Given the description of an element on the screen output the (x, y) to click on. 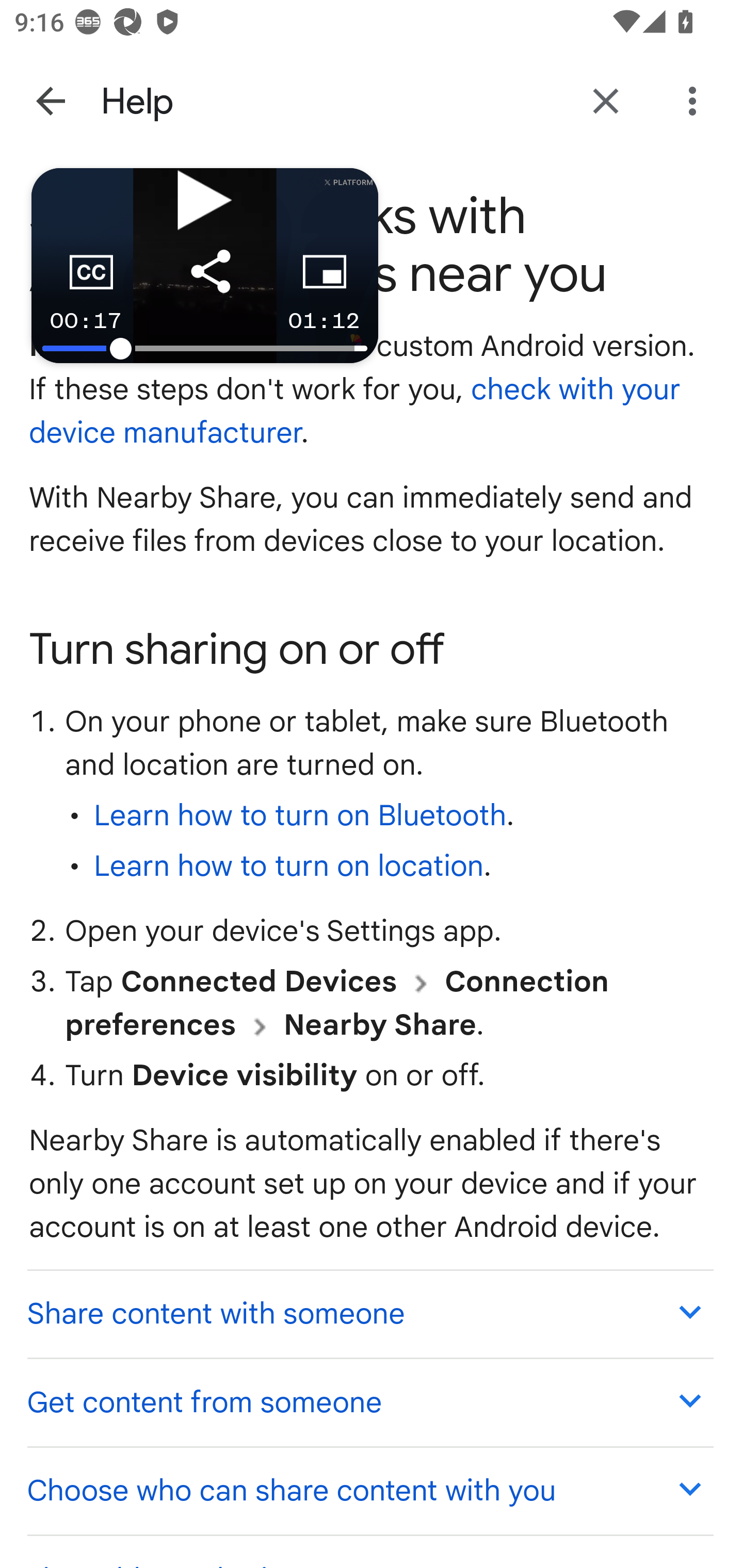
Navigate up (50, 101)
Return to Google Play services (605, 101)
More options (696, 101)
check with your device manufacturer (355, 411)
Learn how to turn on Bluetooth (300, 816)
Learn how to turn on location (288, 866)
Share content with someone (369, 1311)
Get content from someone (369, 1402)
Choose who can share content with you (369, 1490)
